Given the description of an element on the screen output the (x, y) to click on. 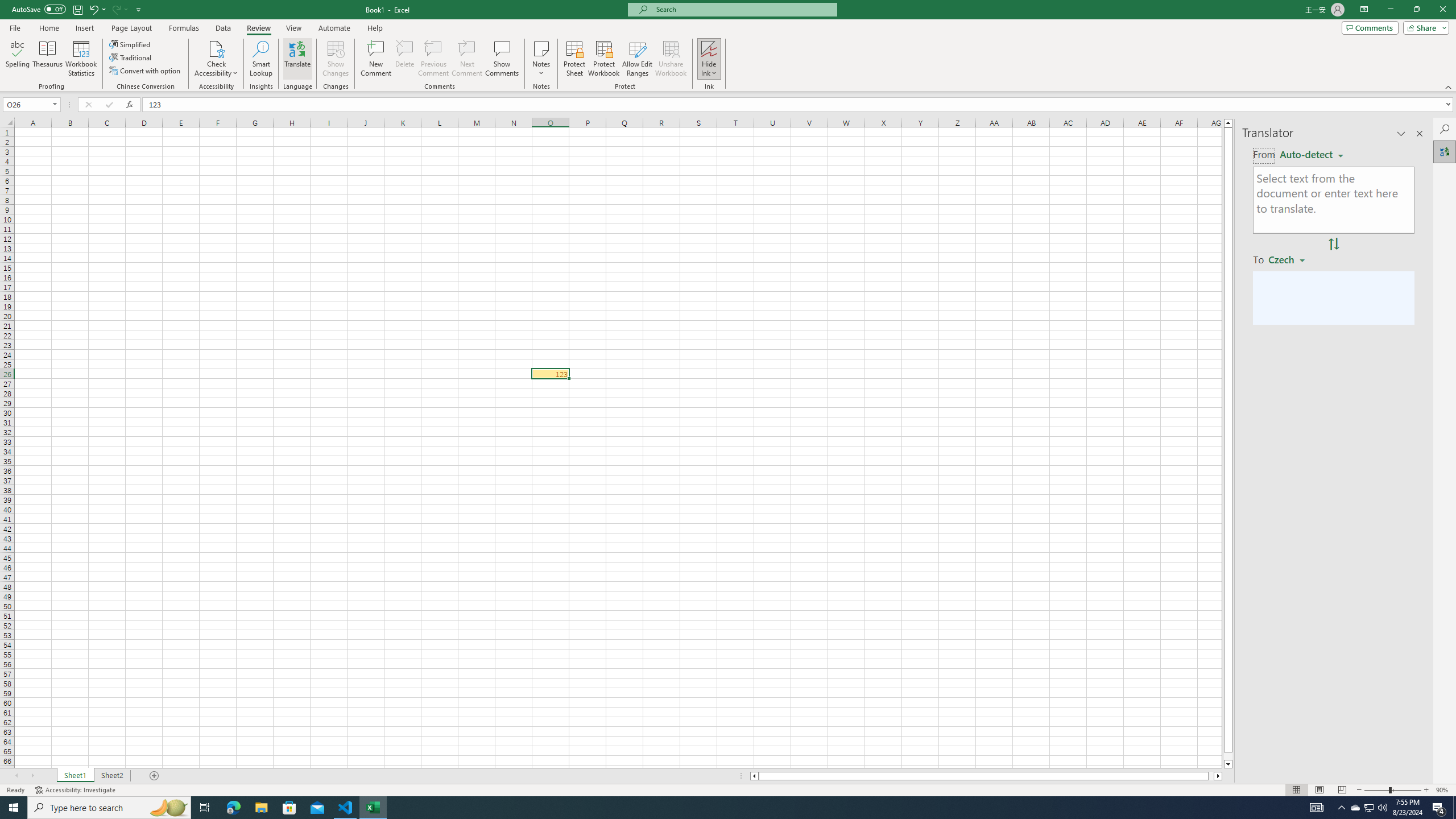
Sheet2 (112, 775)
Show Comments (501, 58)
Allow Edit Ranges (637, 58)
New Comment (376, 58)
Show Changes (335, 58)
